Given the description of an element on the screen output the (x, y) to click on. 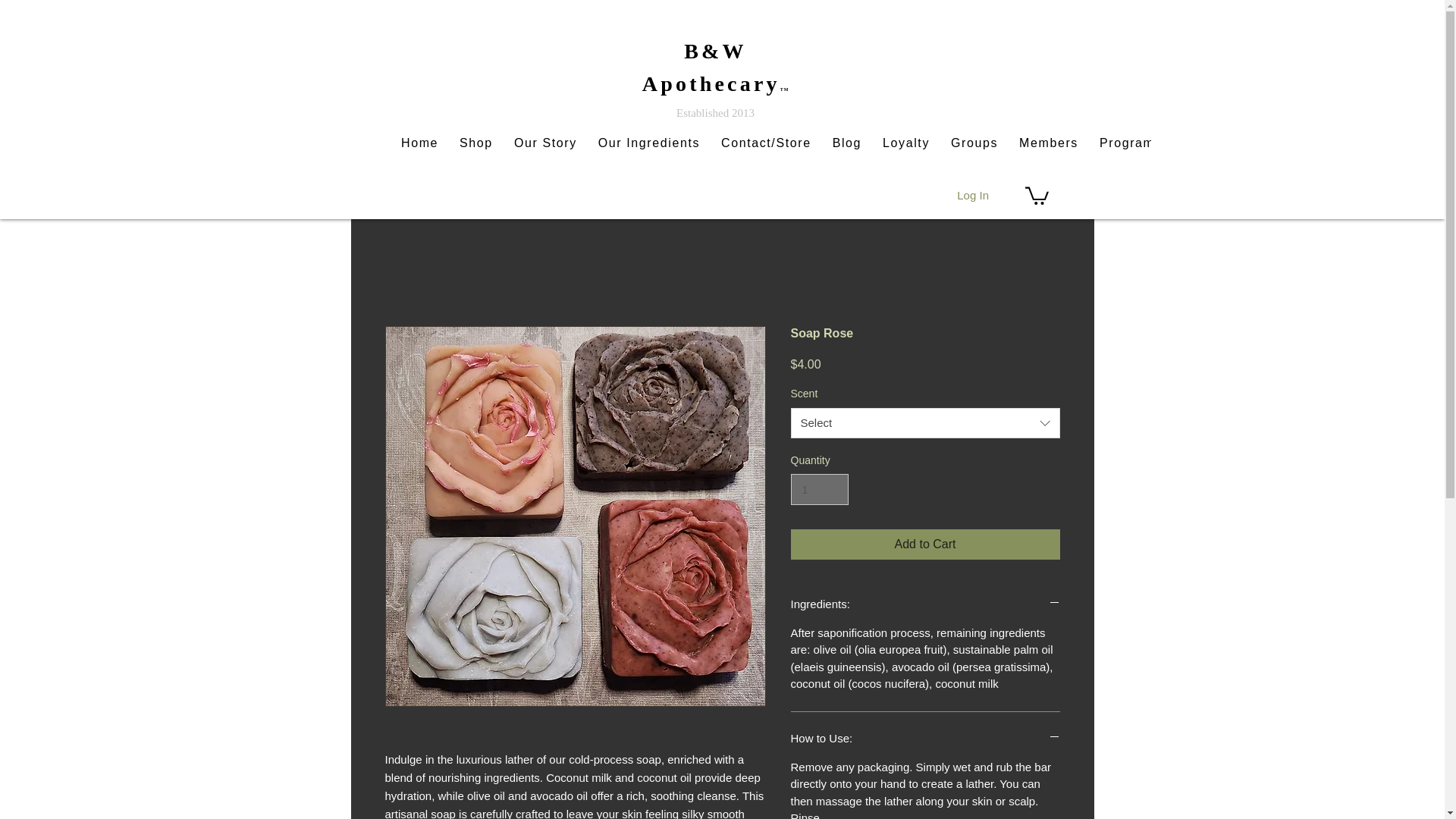
Program List (1141, 143)
TM (784, 88)
Members (1048, 143)
Our Ingredients (649, 143)
How to Use: (924, 738)
Log In (972, 195)
Add to Cart (924, 544)
Our Story (545, 143)
1 (818, 489)
Ingredients: (924, 603)
Select (924, 422)
